Given the description of an element on the screen output the (x, y) to click on. 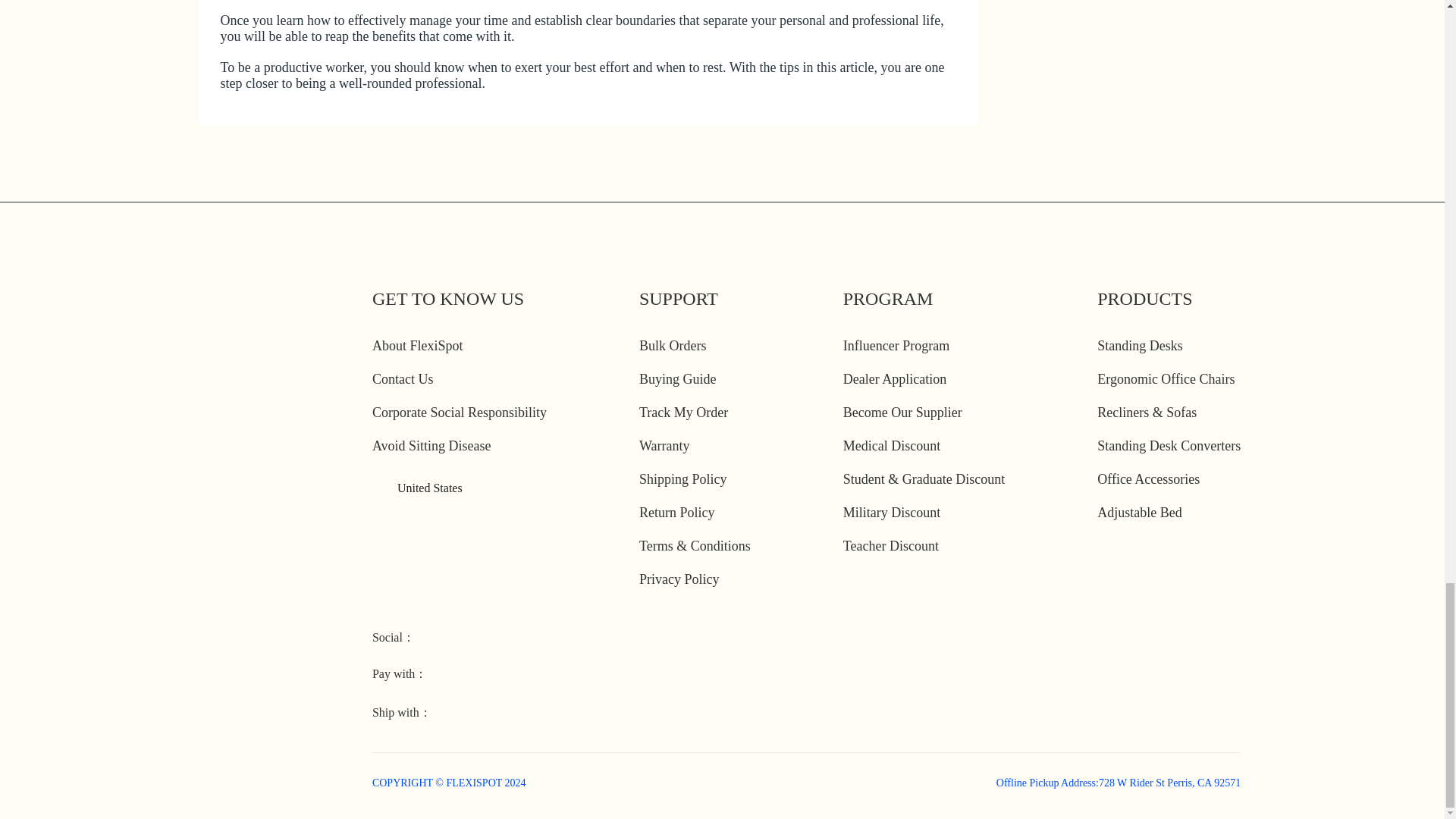
Privacy Policy (679, 579)
Adjustable Bed (1138, 512)
Avoid Sitting Disease (432, 445)
About FlexiSpot (417, 345)
Track My Order (683, 412)
Ergonomic Office Chairs (1165, 378)
Teacher Discount (891, 545)
Warranty (664, 445)
Shipping Policy (682, 478)
Return Policy (676, 512)
Office Accessories (1148, 478)
Bulk Orders (672, 345)
Medical Discount (891, 445)
Standing Desks (1139, 345)
Military Discount (891, 512)
